Given the description of an element on the screen output the (x, y) to click on. 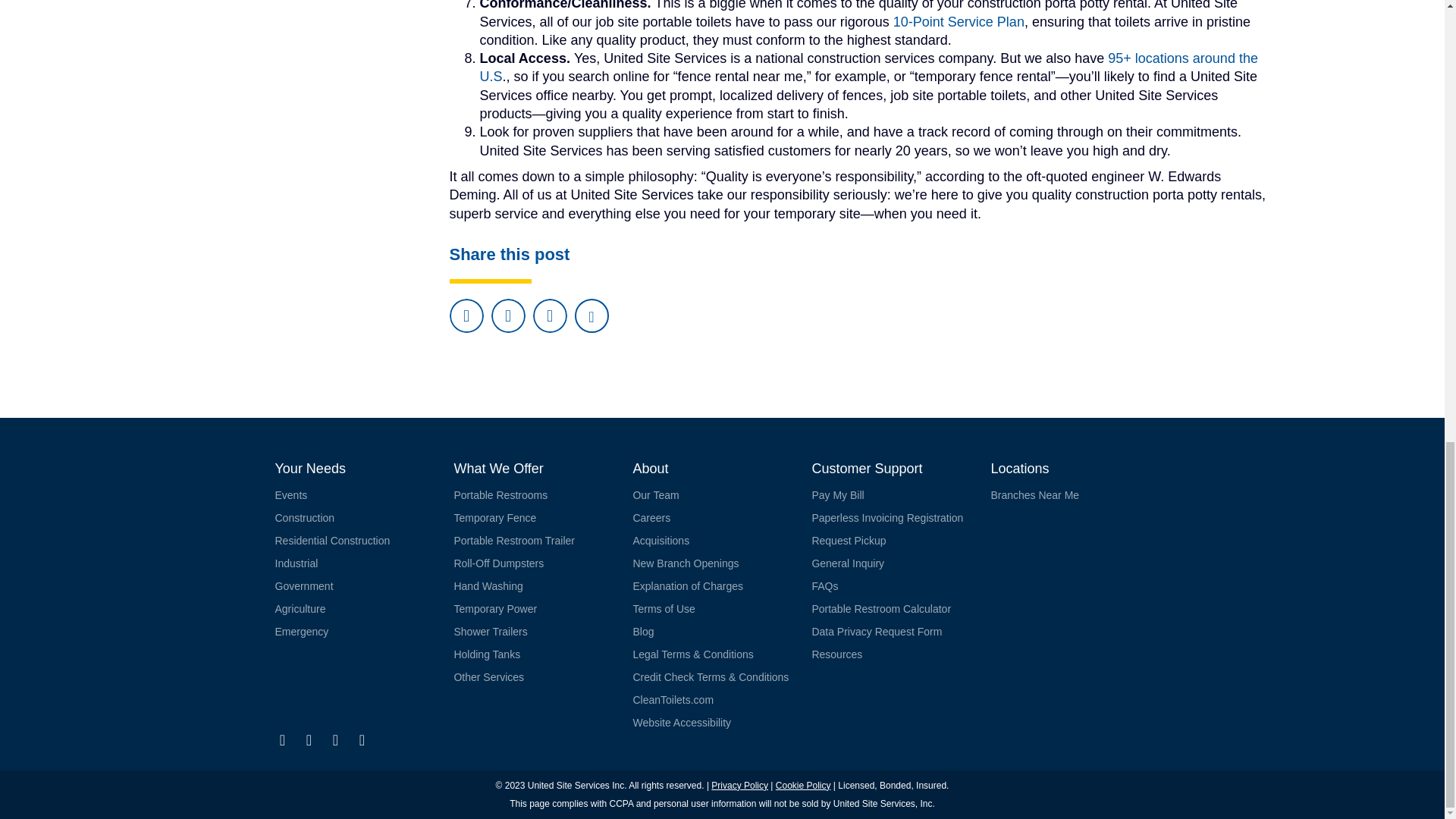
Instagram (334, 739)
